Given the description of an element on the screen output the (x, y) to click on. 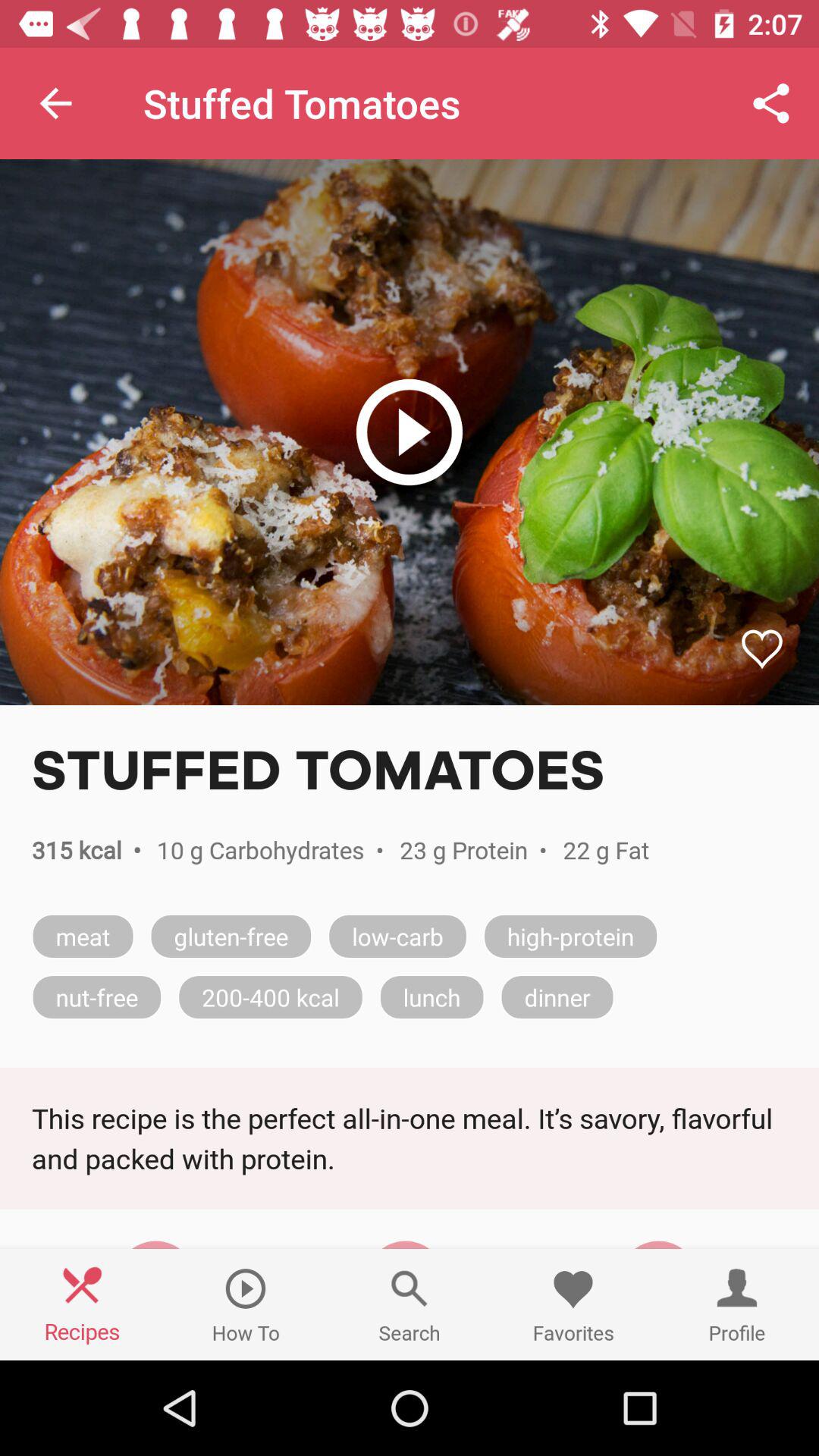
turn on icon next to stuffed tomatoes (55, 103)
